Given the description of an element on the screen output the (x, y) to click on. 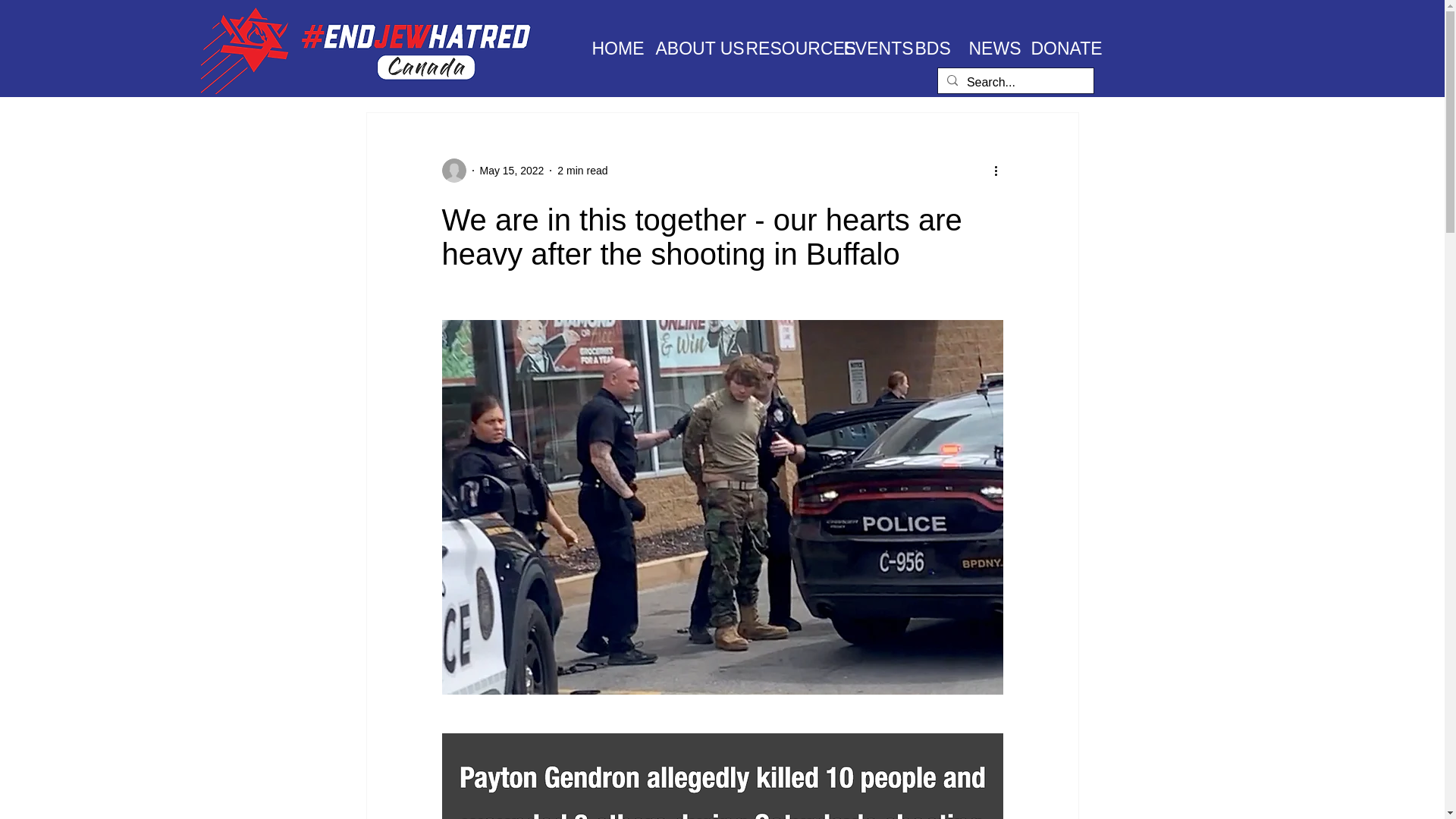
HOME (612, 48)
NEWS (987, 48)
2 min read (582, 169)
DONATE (1056, 48)
May 15, 2022 (511, 169)
